Given the description of an element on the screen output the (x, y) to click on. 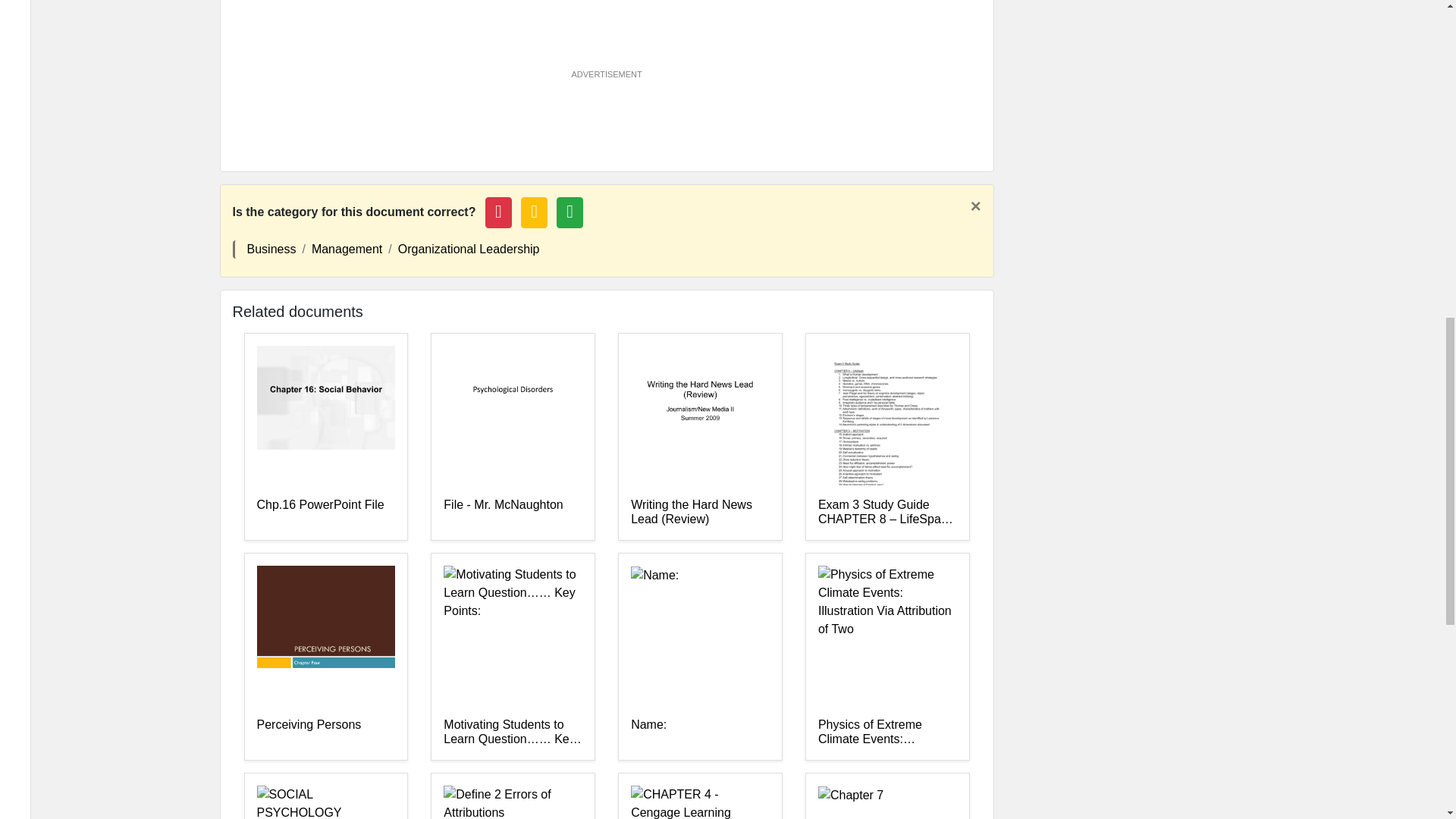
Management (346, 248)
Perceiving Persons (325, 732)
Chp.16 PowerPoint File (325, 512)
Chp.16 PowerPoint File (325, 512)
File - Mr. McNaughton (513, 512)
Organizational Leadership (468, 248)
Name: (700, 732)
Business (272, 248)
File - Mr. McNaughton (513, 512)
